Given the description of an element on the screen output the (x, y) to click on. 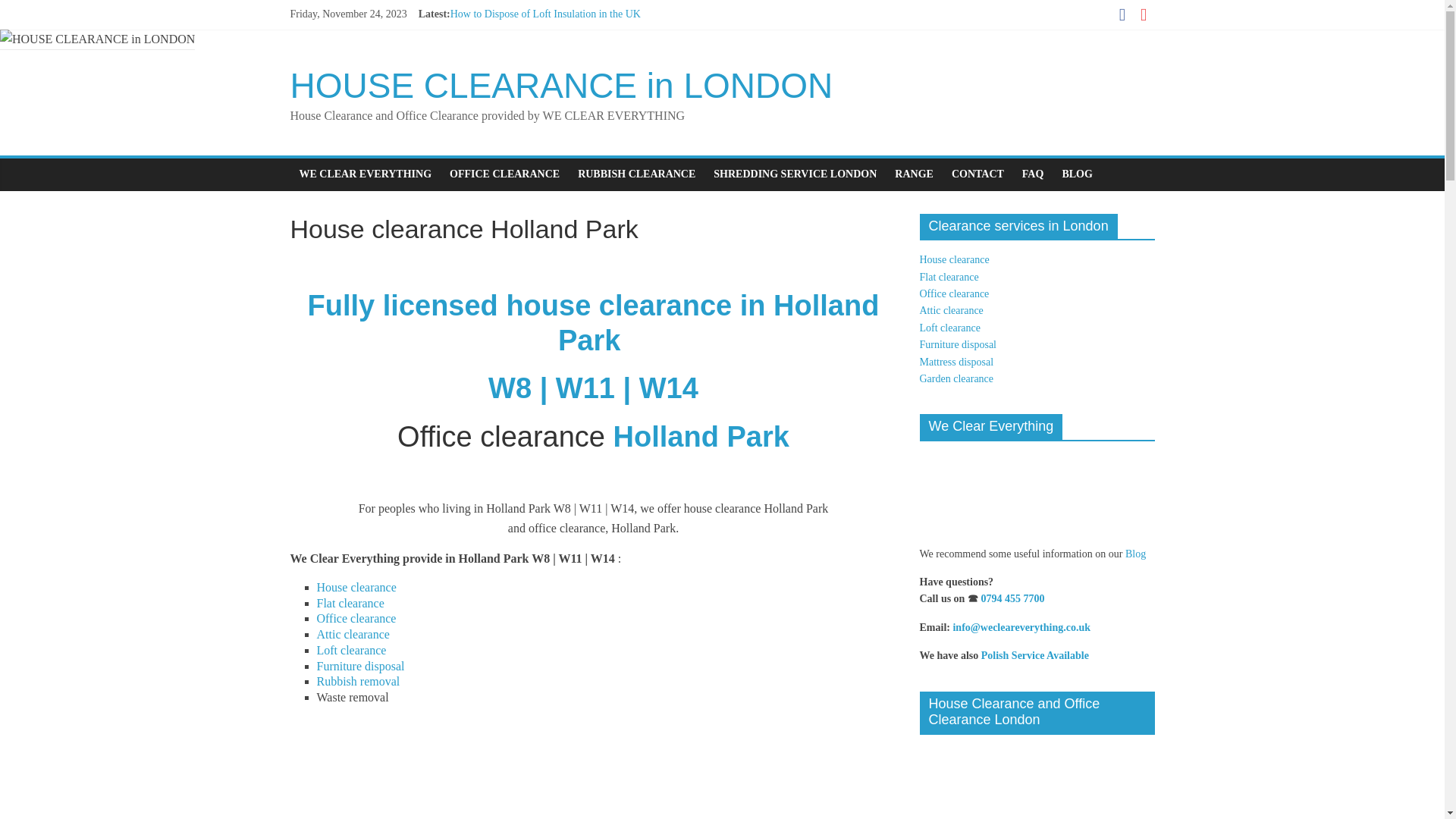
Garden clearance (955, 378)
House clearance (953, 259)
HOUSE CLEARANCE in LONDON (560, 85)
How to Dispose of Broken Glass in the UK Safely (557, 30)
How to Dispose of Broken Glass in the UK Safely (557, 30)
0794 455 7700 (1011, 598)
House clearance (356, 586)
We Clear Everything  (1036, 490)
Mattress disposal (955, 361)
Furniture disposal (360, 666)
How to Dispose of Paint in the UK (523, 64)
Flat clearance (350, 602)
OFFICE CLEARANCE (505, 174)
HOUSE CLEARANCE in LONDON (560, 85)
Blog (1135, 553)
